Given the description of an element on the screen output the (x, y) to click on. 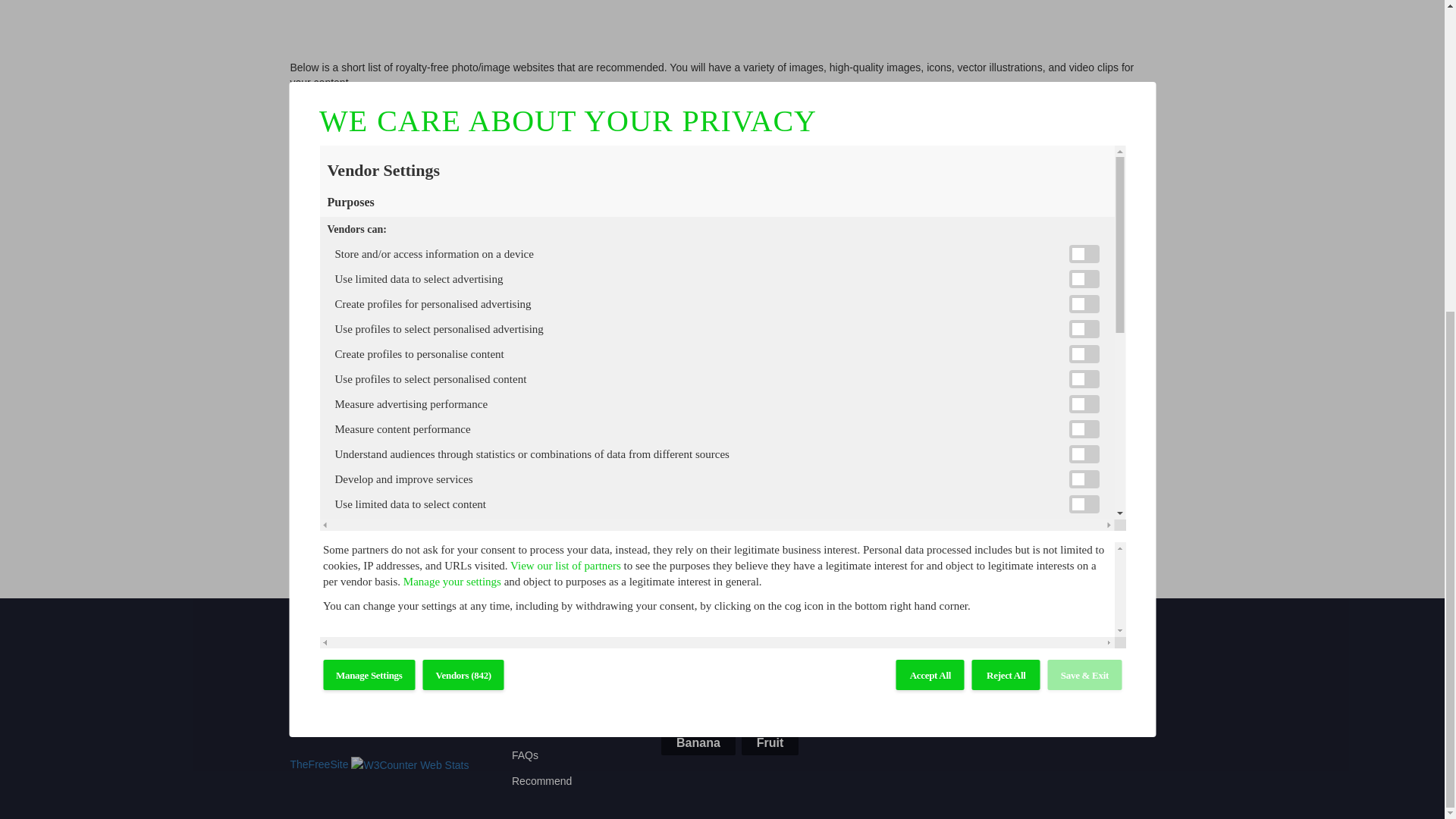
OnEselcnc (640, 460)
Best high quality pictures (379, 324)
Advertisement (721, 7)
The free site (318, 764)
blog.pixloger.com (589, 483)
Quality Images, footage, music... (465, 233)
OnEsel (394, 460)
PixLoger shop (778, 460)
Photo, footage, audio, vectors (431, 278)
Photo, illustration, video, audio, and free photo (496, 309)
print-on-demand products (457, 438)
TheFreeSite (318, 764)
Free and premium vector icons (392, 392)
Quality creative products (465, 248)
Photo, video, vector (408, 294)
